Given the description of an element on the screen output the (x, y) to click on. 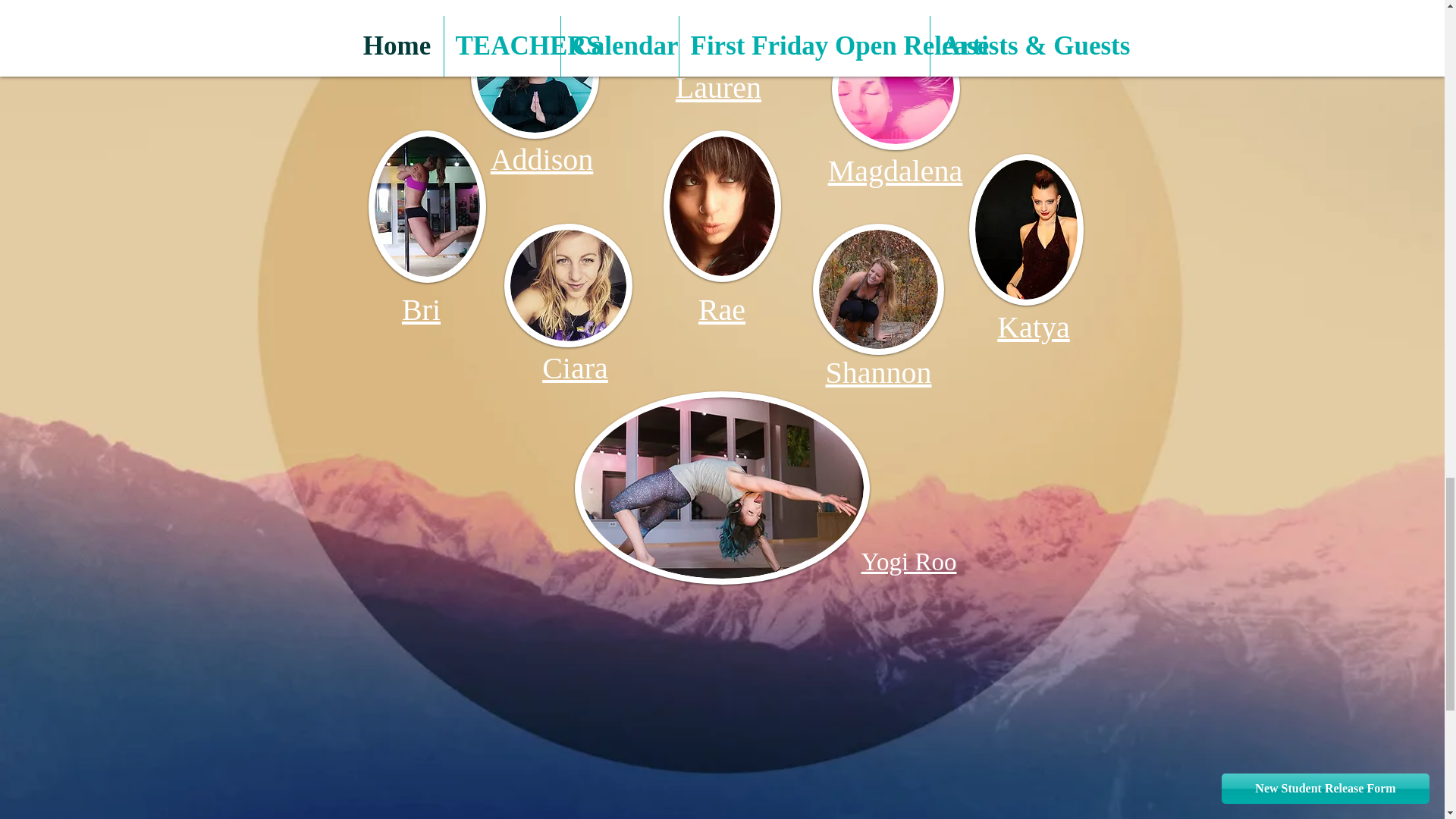
Katya (1033, 326)
Rae (721, 309)
Lauren (718, 87)
Addison (542, 159)
Bri (421, 309)
Ciara (574, 367)
Shannon (878, 372)
Magdalena (895, 170)
Yogi Roo (908, 561)
